Given the description of an element on the screen output the (x, y) to click on. 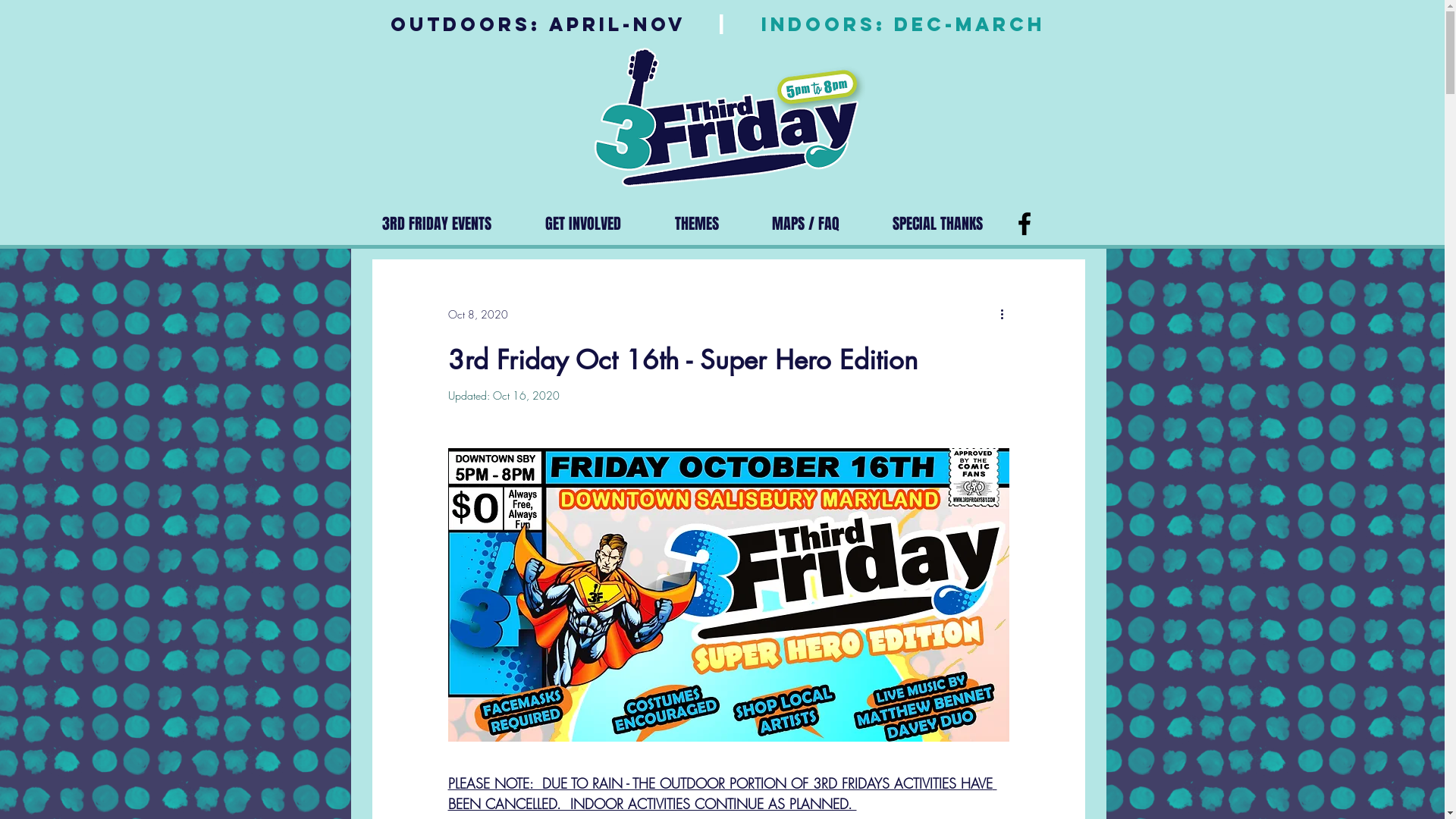
3RD FRIDAY EVENTS Element type: text (435, 224)
3rd Friday Oct 16th - Super Hero Edition Element type: text (681, 359)
GET INVOLVED Element type: text (583, 224)
SPECIAL THANKS Element type: text (937, 224)
THEMES Element type: text (695, 224)
MAPS / FAQ Element type: text (804, 224)
